Given the description of an element on the screen output the (x, y) to click on. 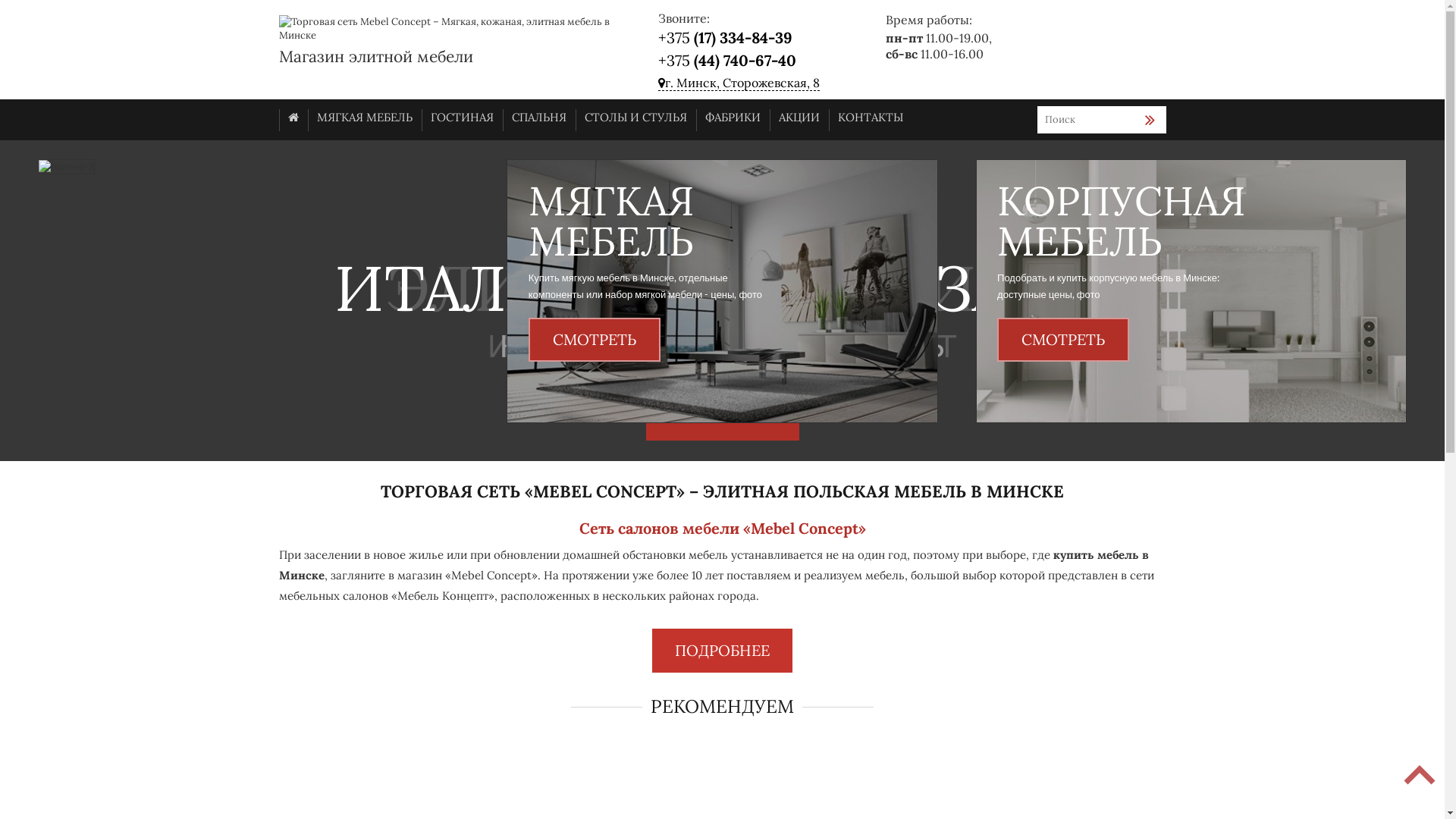
banner-3 Element type: hover (65, 166)
+375 (44) 740-67-40 Element type: text (727, 59)
+375 (17) 334-84-39 Element type: text (725, 37)
banner-1 Element type: hover (721, 291)
banner-2 Element type: hover (1190, 291)
